Given the description of an element on the screen output the (x, y) to click on. 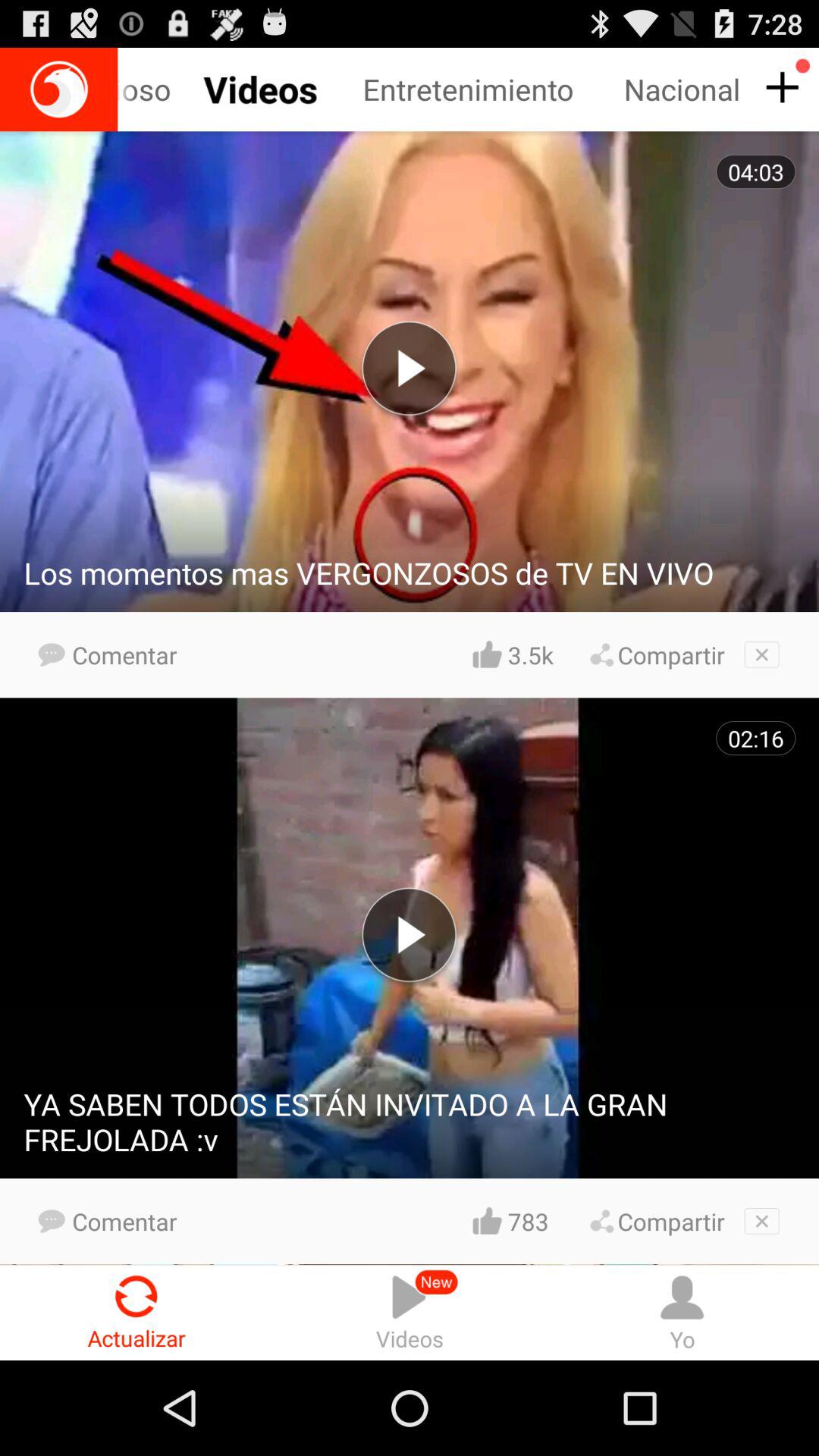
select icon to the right of gracioso icon (492, 89)
